Given the description of an element on the screen output the (x, y) to click on. 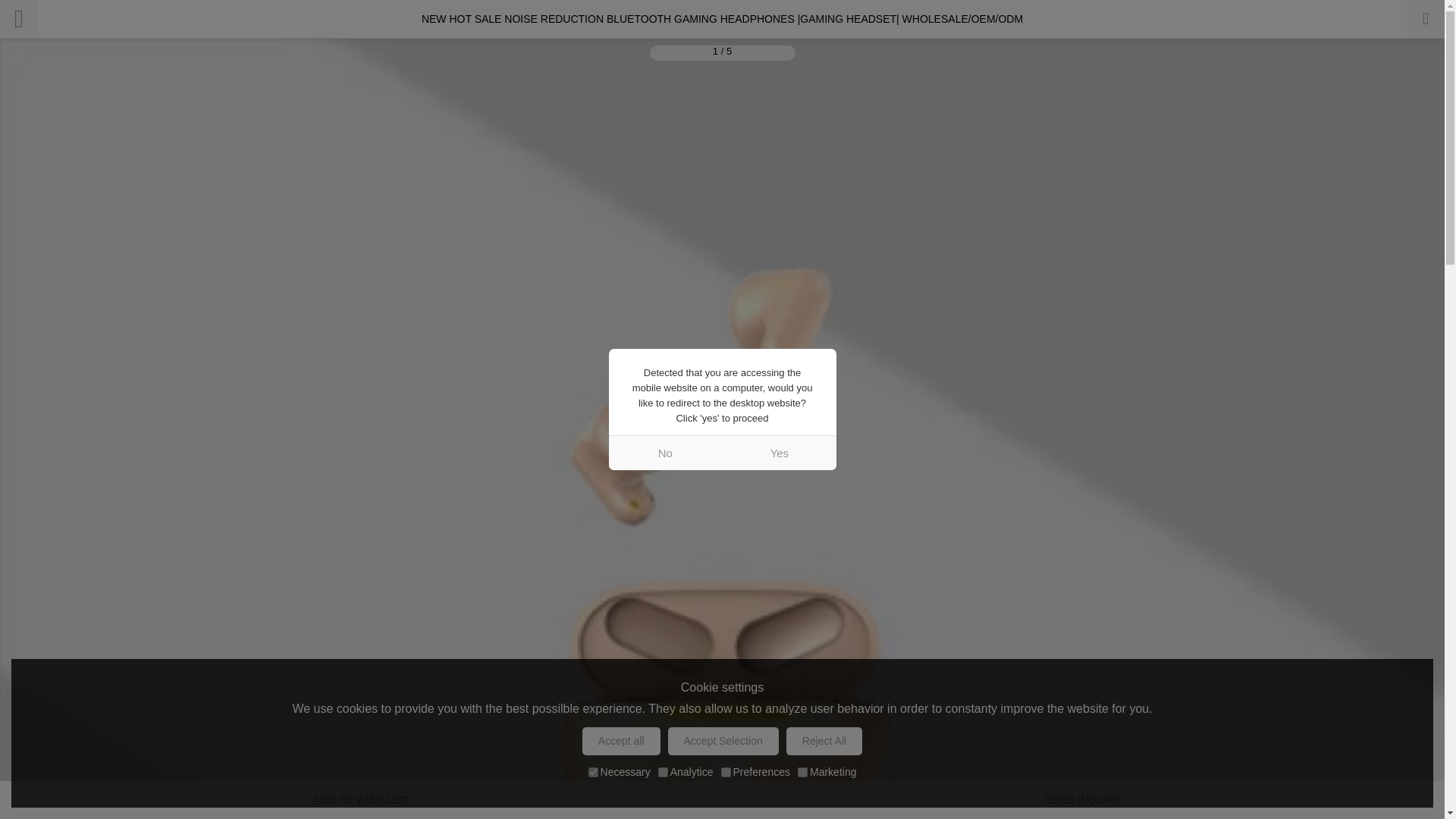
Yes (778, 452)
Reject All (823, 741)
ADD TO WISH LIST (361, 800)
Accept Selection (723, 741)
Return (18, 18)
No (665, 452)
on (663, 772)
on (802, 772)
on (725, 772)
on (593, 772)
Accept all (621, 741)
